Given the description of an element on the screen output the (x, y) to click on. 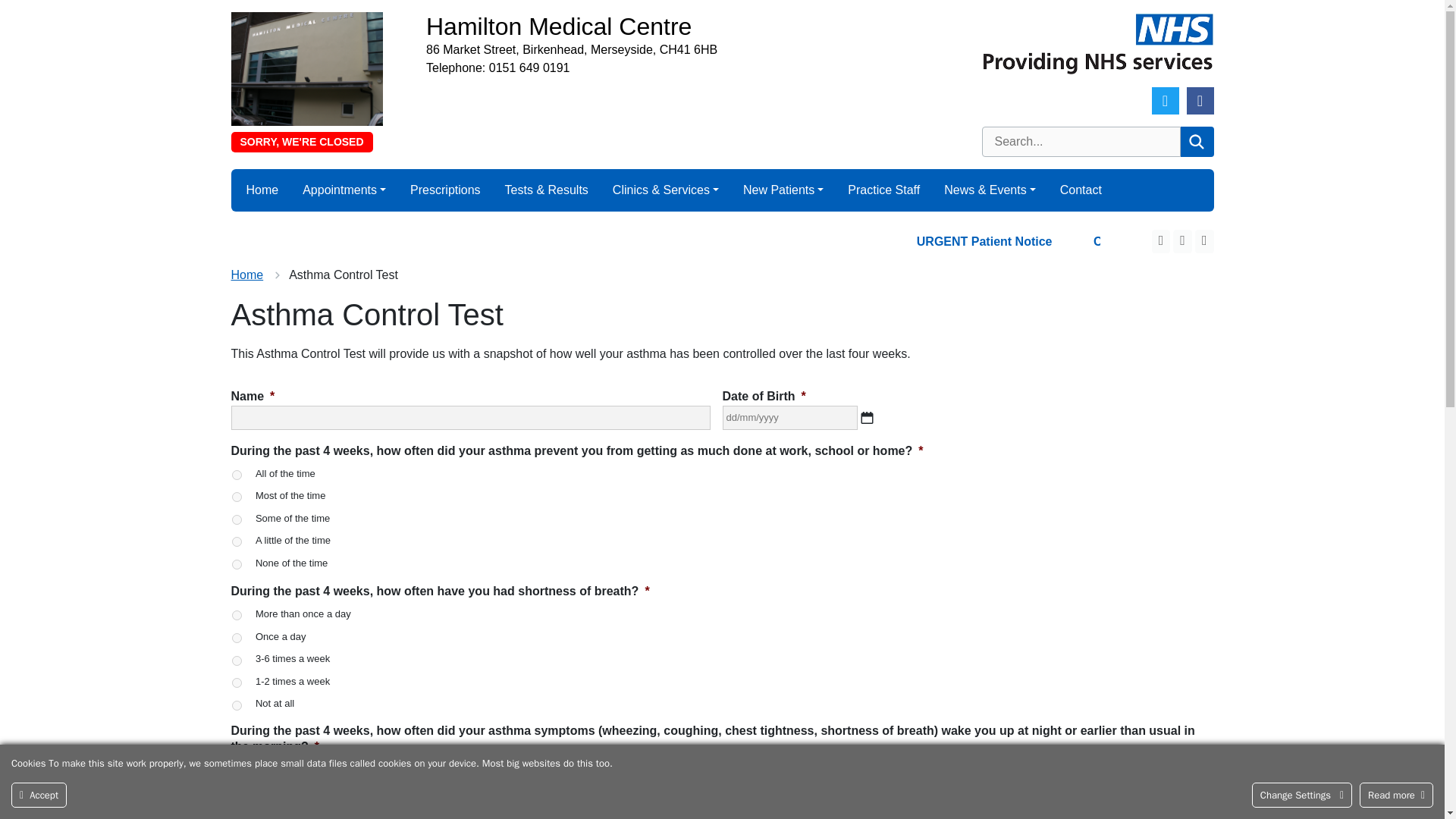
None of the time (236, 564)
URGENT Patient Notice (1125, 241)
A little of the time (236, 542)
4 or more times a week (236, 770)
Once a day (236, 637)
Practice Staff (883, 190)
2-3 nights a week (236, 792)
3-6 times a week (236, 660)
Home (261, 190)
New Patients (782, 190)
1-2 times a week (236, 682)
More than once a day (236, 614)
Appointments (344, 190)
Select date (866, 417)
Most of the time (236, 497)
